Given the description of an element on the screen output the (x, y) to click on. 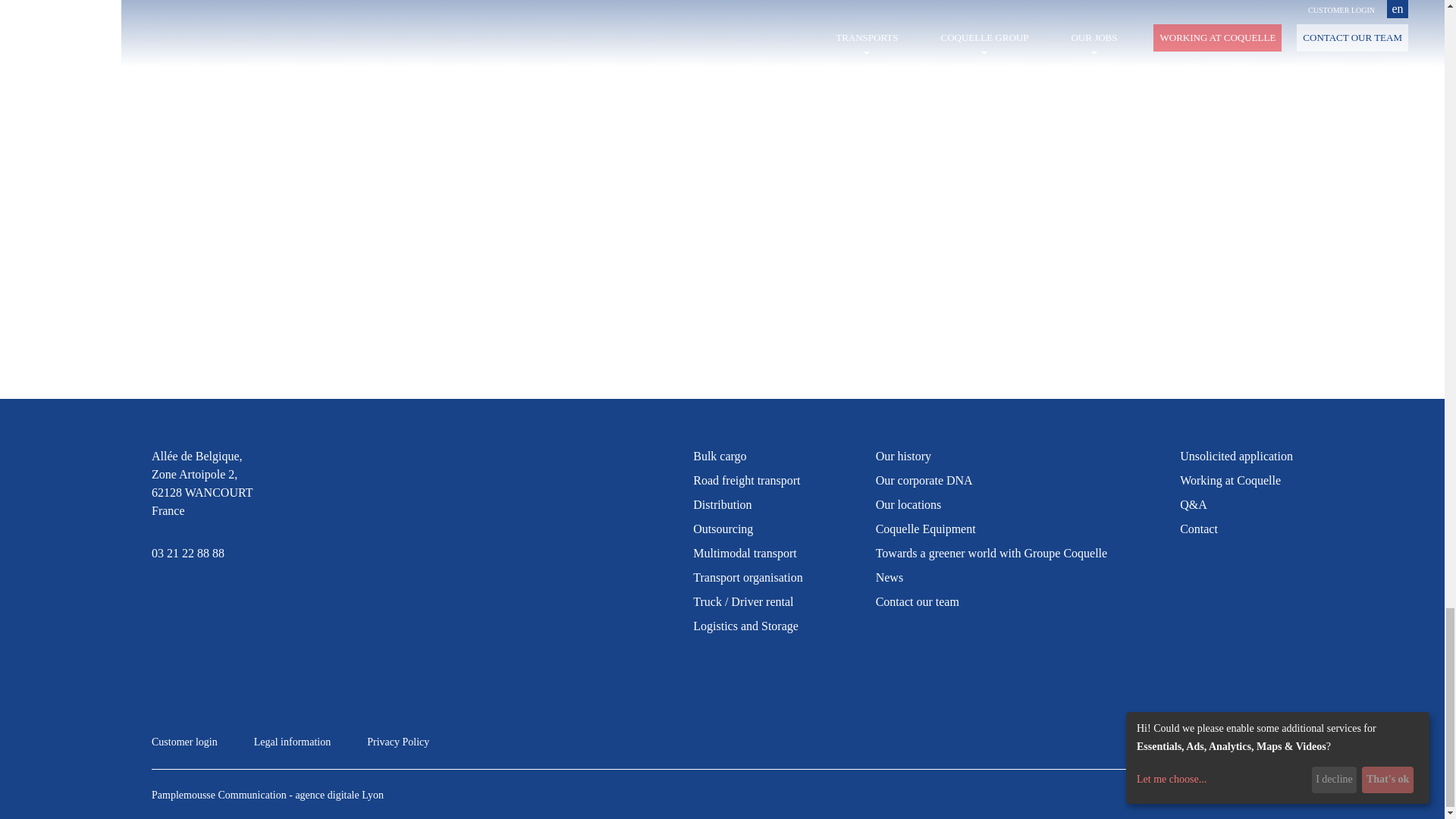
Distribution (722, 504)
Logistics and Storage (745, 625)
Transport organisation (747, 576)
Bulk cargo (719, 455)
Road freight transport (746, 480)
03 21 22 88 88 (201, 553)
Multimodal transport (744, 553)
Our history (903, 455)
Our corporate DNA (924, 480)
Outsourcing (722, 528)
